Given the description of an element on the screen output the (x, y) to click on. 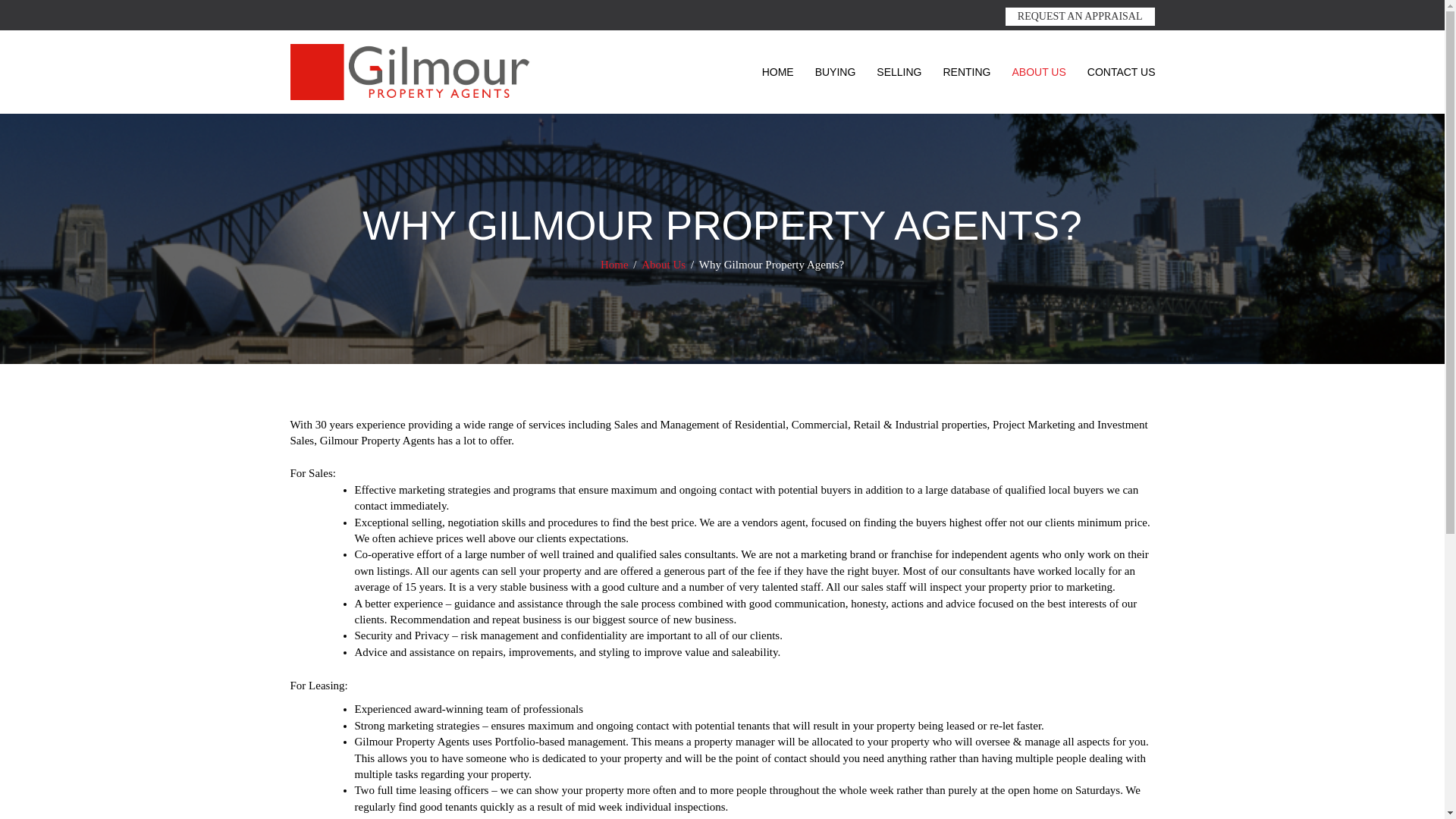
CONTACT US (1121, 71)
SELLING (898, 71)
About Us (665, 264)
BUYING (835, 71)
Home (614, 264)
REQUEST AN APPRAISAL (1080, 16)
RENTING (966, 71)
About Us (665, 264)
ABOUT US (1038, 71)
Home (614, 264)
